Given the description of an element on the screen output the (x, y) to click on. 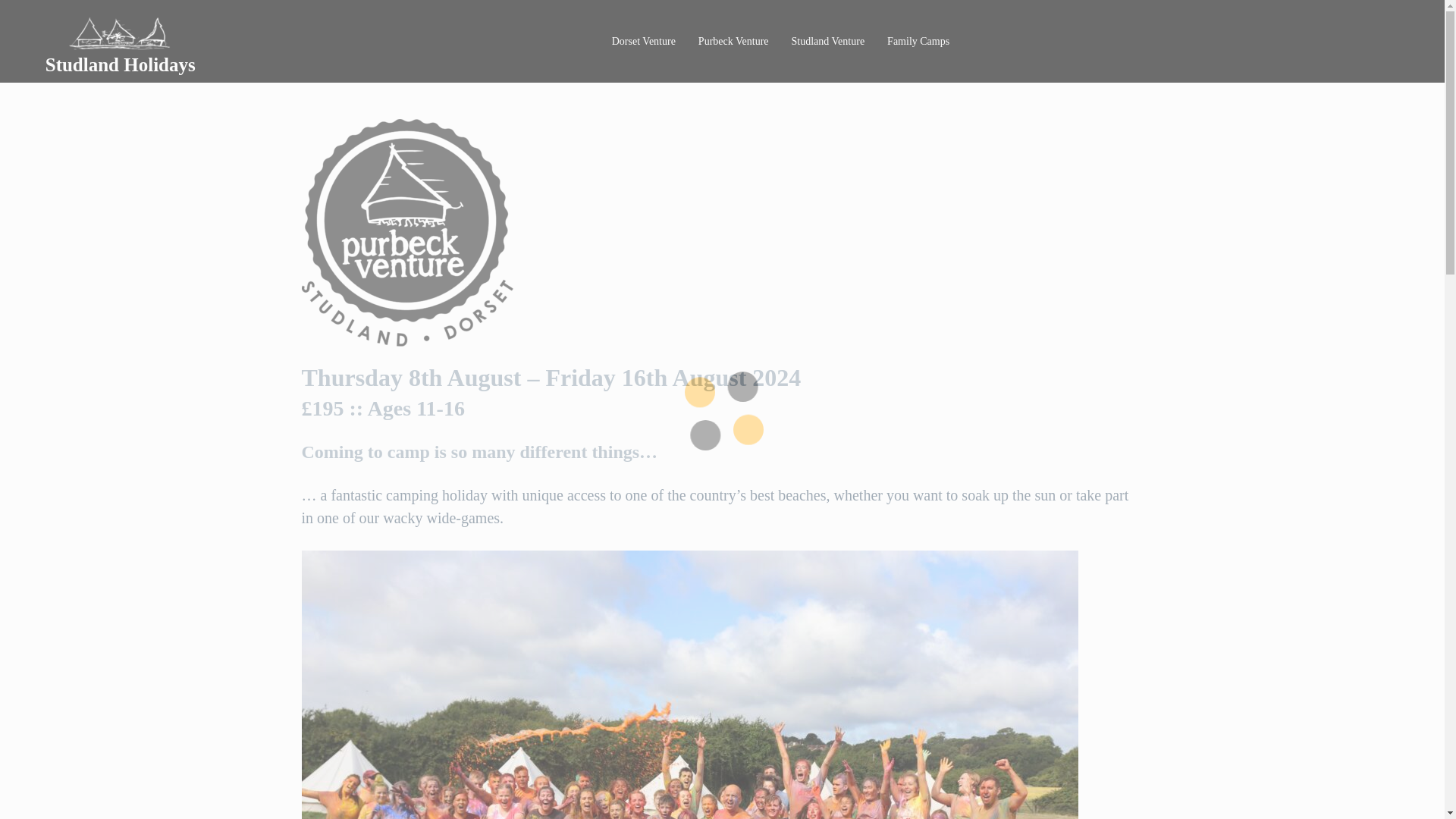
Purbeck Venture (733, 41)
Studland Venture (828, 41)
Studland Holidays (120, 64)
Family Camps (918, 41)
Dorset Venture (643, 41)
